Given the description of an element on the screen output the (x, y) to click on. 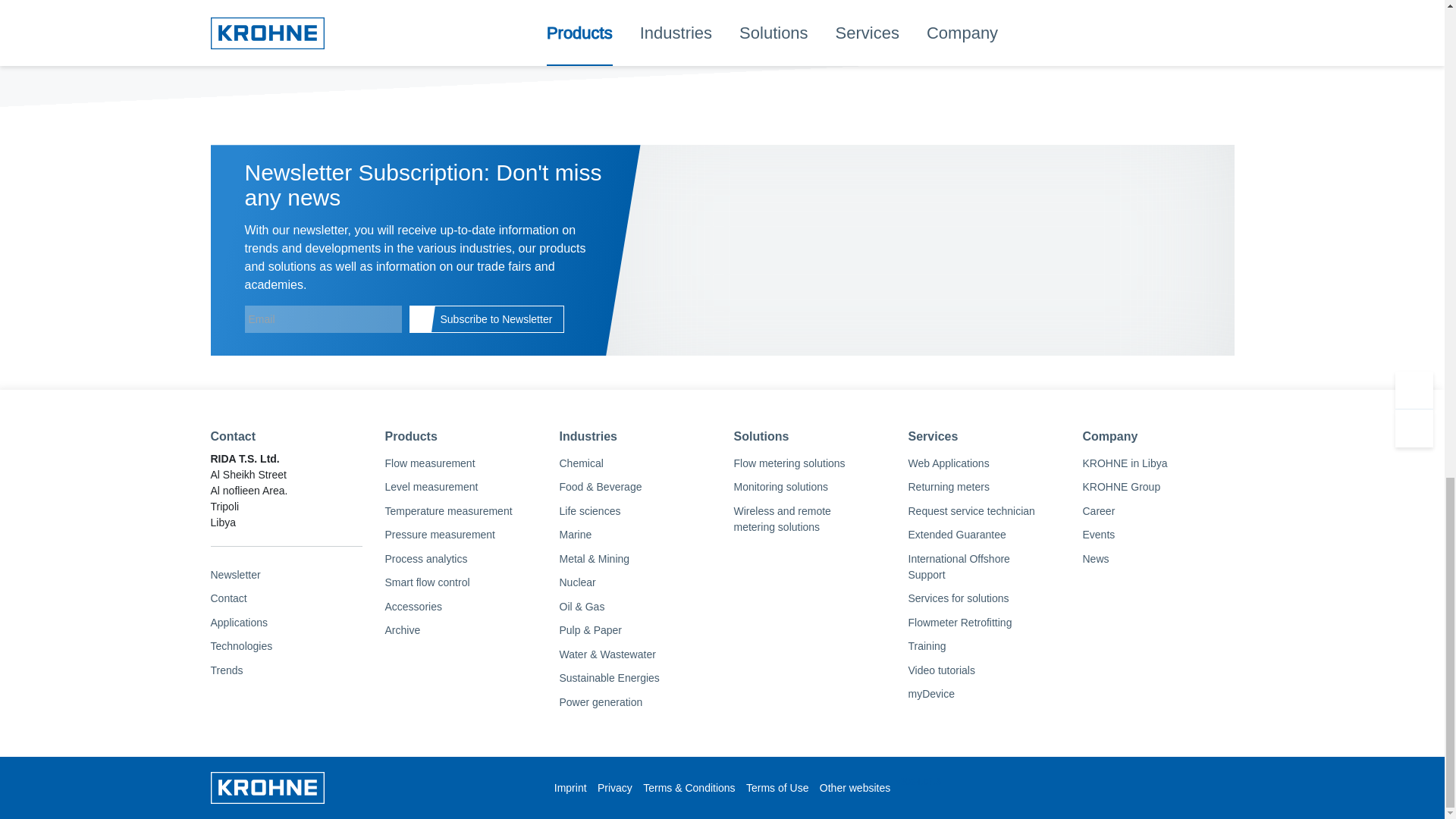
Products (461, 436)
Smart flow control (461, 582)
Newsletter (286, 574)
Pressure measurement (461, 535)
Temperature measurement (461, 510)
Trends (286, 670)
Subscribe to Newsletter (486, 318)
Technologies (286, 646)
Applications (286, 622)
Contact (286, 598)
Process analytics (461, 558)
Level measurement (461, 487)
Flow measurement (461, 463)
